Given the description of an element on the screen output the (x, y) to click on. 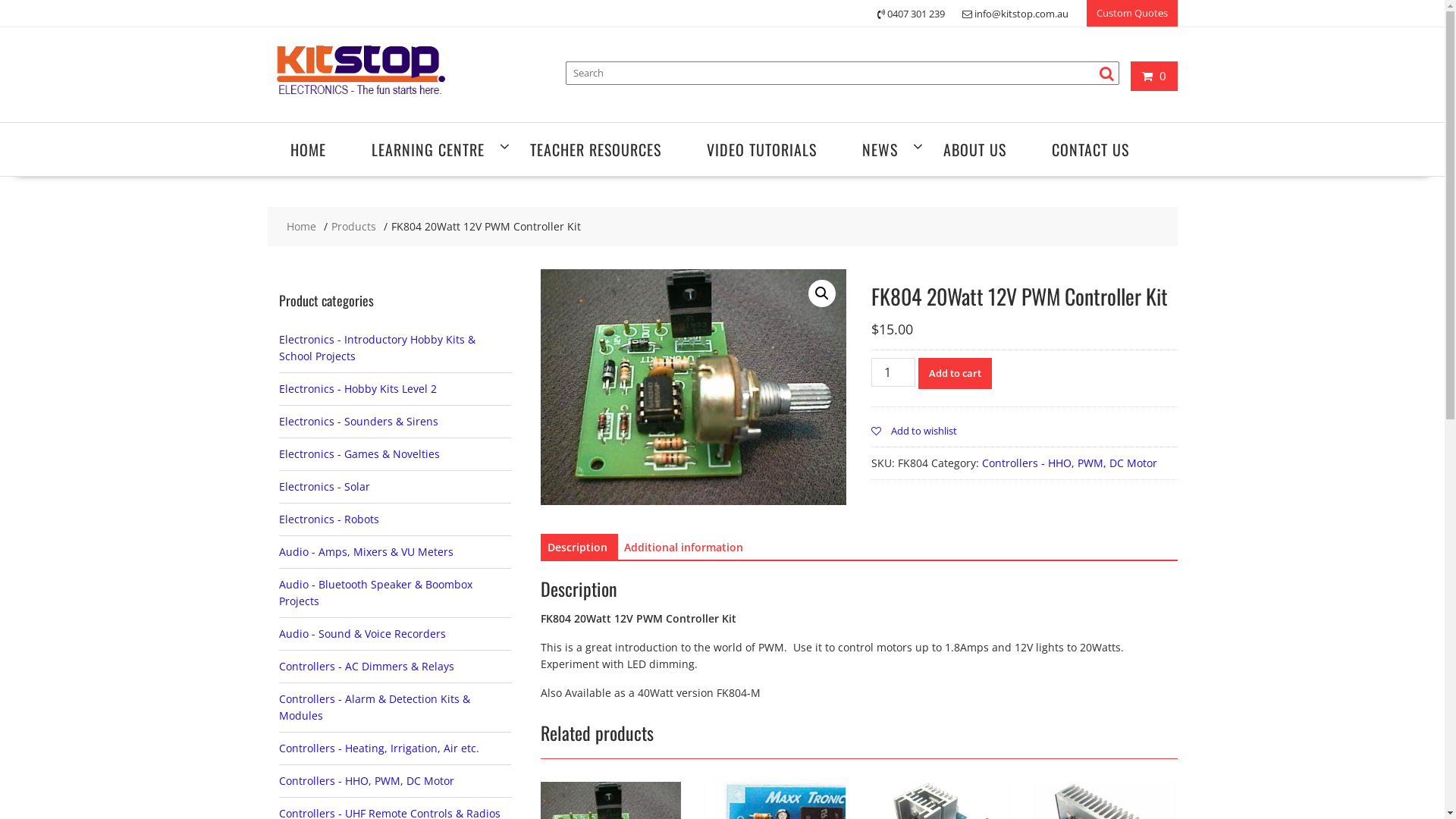
Electronics - Sounders & Sirens Element type: text (358, 421)
Controllers - Alarm & Detection Kits & Modules Element type: text (374, 706)
VIDEO TUTORIALS Element type: text (761, 148)
Home Element type: text (301, 226)
Additional information Element type: text (682, 547)
Description Element type: text (577, 547)
HOME Element type: text (307, 148)
ABOUT US Element type: text (974, 148)
Electronics - Hobby Kits Level 2 Element type: text (357, 388)
Electronics - Solar Element type: text (324, 486)
Audio - Amps, Mixers & VU Meters Element type: text (366, 551)
Controllers - HHO, PWM, DC Motor Element type: text (366, 780)
Controllers - AC Dimmers & Relays Element type: text (366, 665)
Custom Quotes Element type: text (1130, 13)
TEACHER RESOURCES Element type: text (594, 148)
Add to wishlist Element type: text (914, 430)
NEWS Element type: text (878, 148)
Add to cart Element type: text (954, 373)
Controllers - HHO, PWM, DC Motor Element type: text (1069, 462)
Fk804 Element type: hover (692, 387)
Audio - Sound & Voice Recorders Element type: text (362, 633)
LEARNING CENTRE Element type: text (427, 148)
Products Element type: text (352, 226)
Electronics - Robots Element type: text (329, 518)
Controllers - Heating, Irrigation, Air etc. Element type: text (379, 747)
Audio - Bluetooth Speaker & Boombox Projects Element type: text (375, 592)
Electronics - Introductory Hobby Kits & School Projects Element type: text (377, 347)
Electronics - Games & Novelties Element type: text (359, 453)
CONTACT US Element type: text (1089, 148)
0 Element type: text (1154, 75)
